Given the description of an element on the screen output the (x, y) to click on. 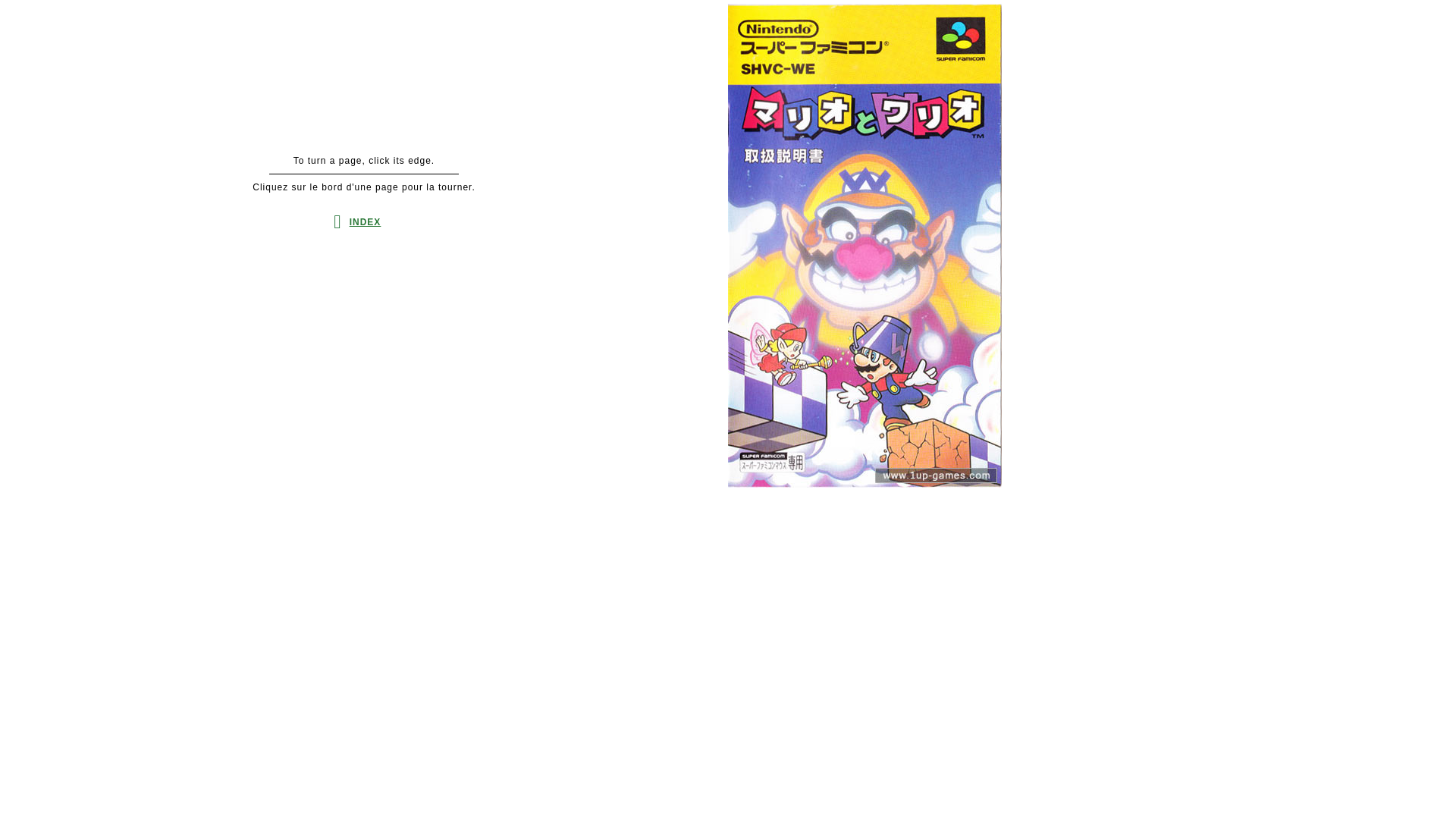
Next page Element type: hover (982, 245)
INDEX Element type: text (365, 221)
